Given the description of an element on the screen output the (x, y) to click on. 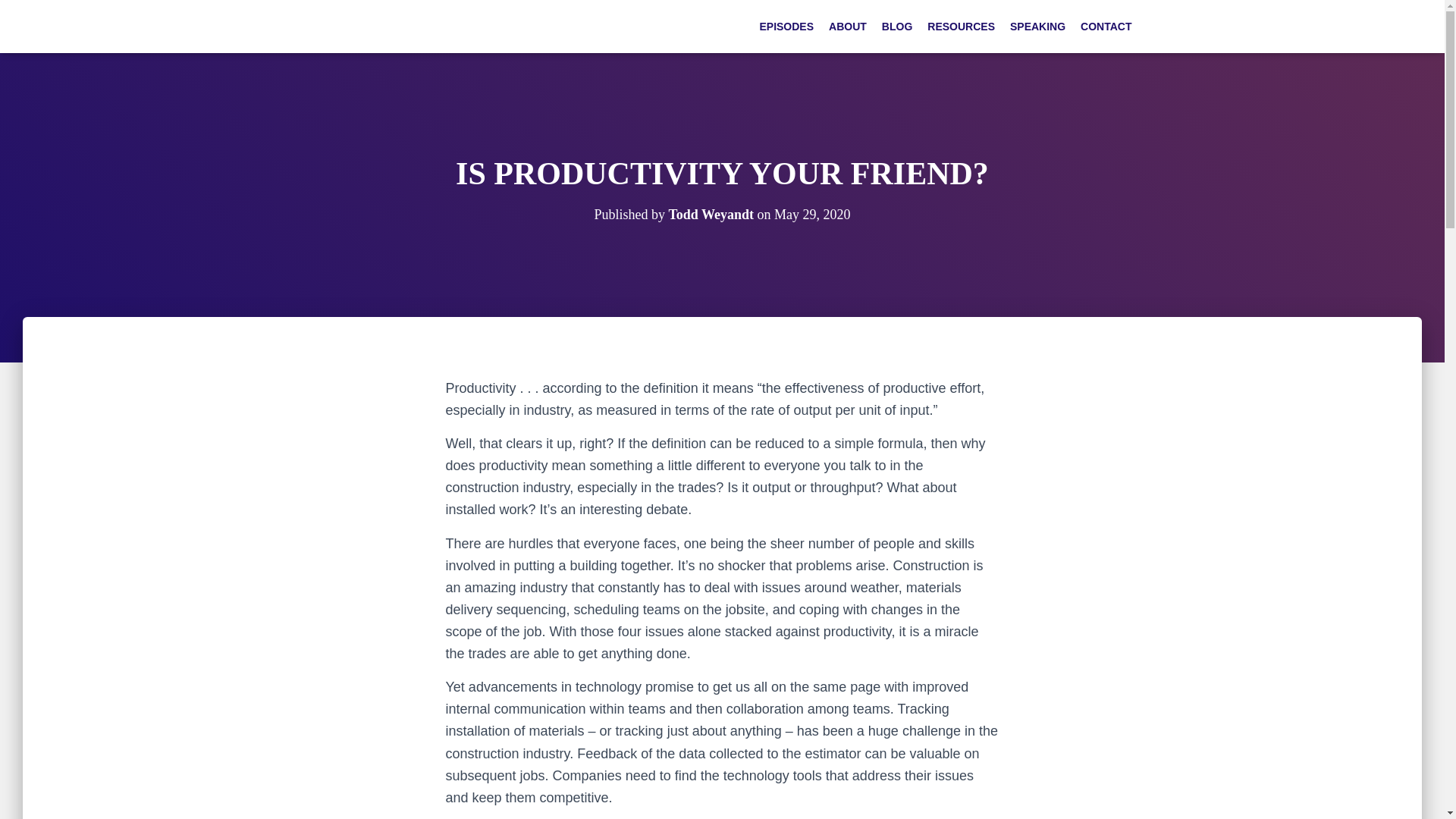
CONTACT (1105, 26)
Todd Weyandt (711, 214)
EPISODES (786, 26)
BLOG (897, 26)
ABOUT (848, 26)
SPEAKING (1038, 26)
RESOURCES (961, 26)
